Given the description of an element on the screen output the (x, y) to click on. 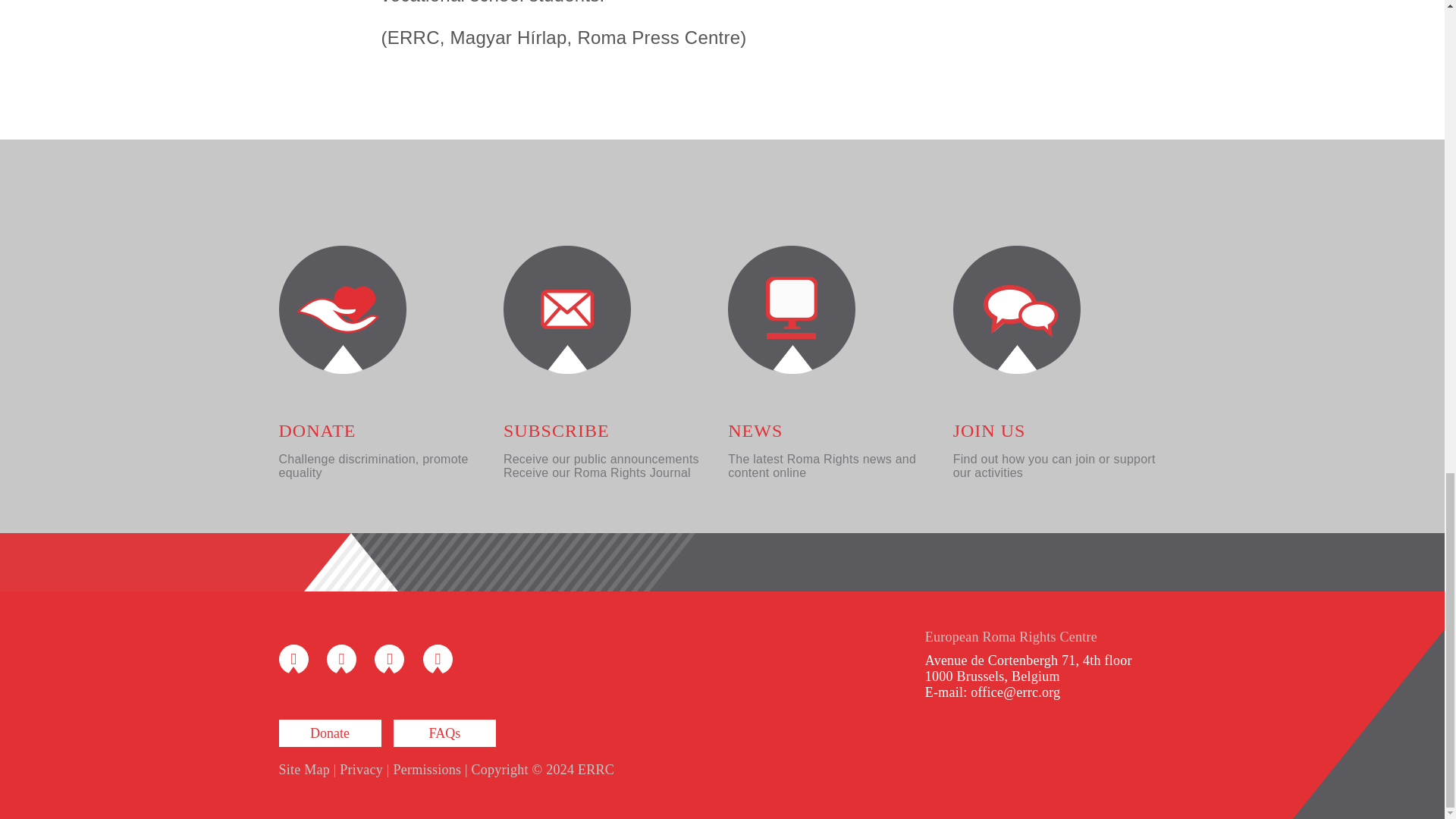
DONATE (317, 430)
NEWS (755, 430)
SUBSCRIBE (556, 430)
